Given the description of an element on the screen output the (x, y) to click on. 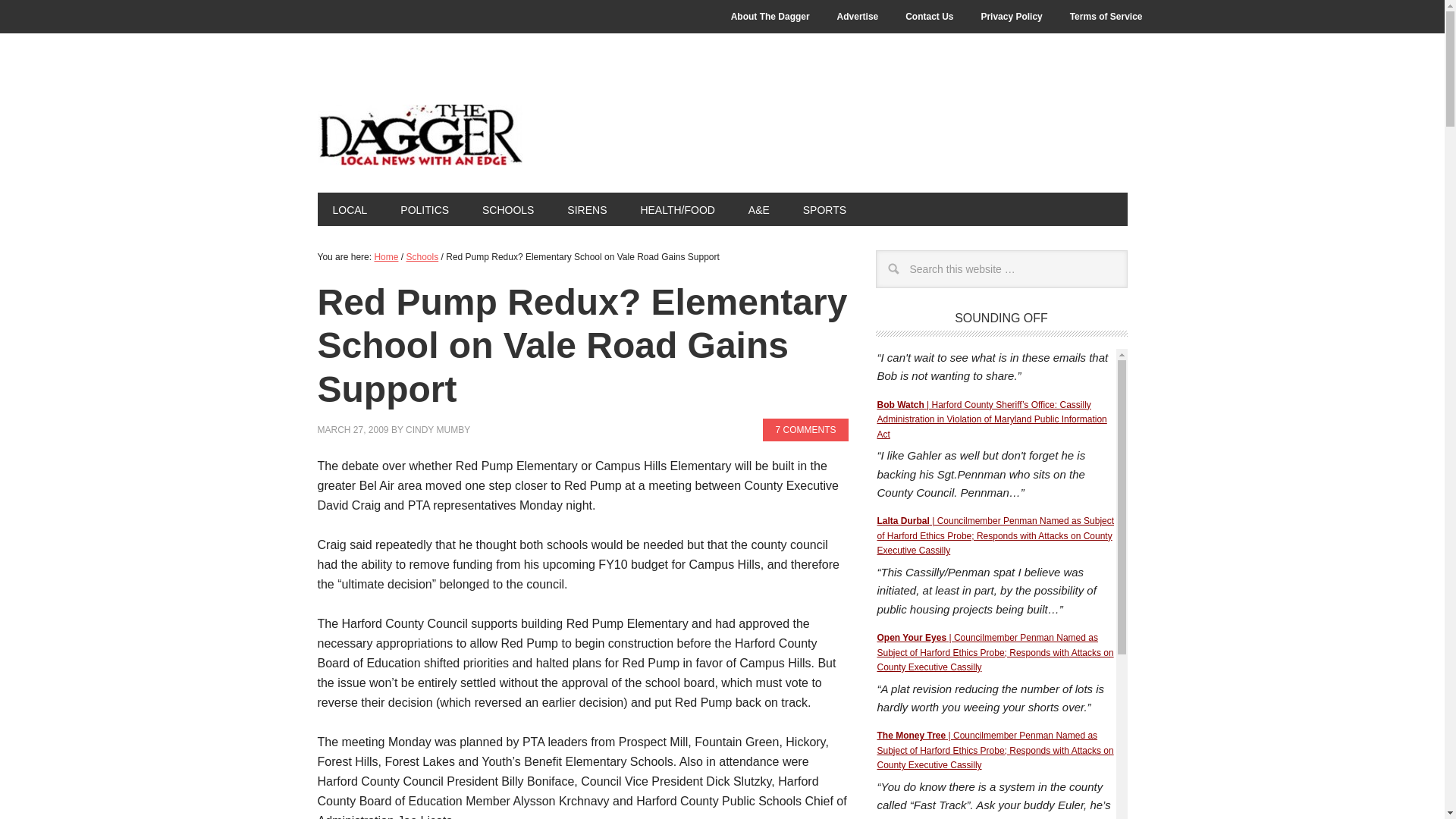
Schools (507, 209)
Local (349, 209)
THE DAGGER - LOCAL NEWS WITH AN EDGE (419, 134)
SCHOOLS (507, 209)
Politics (424, 209)
Sports (824, 209)
SPORTS (824, 209)
Home (385, 256)
Schools (422, 256)
Sirens (586, 209)
